Given the description of an element on the screen output the (x, y) to click on. 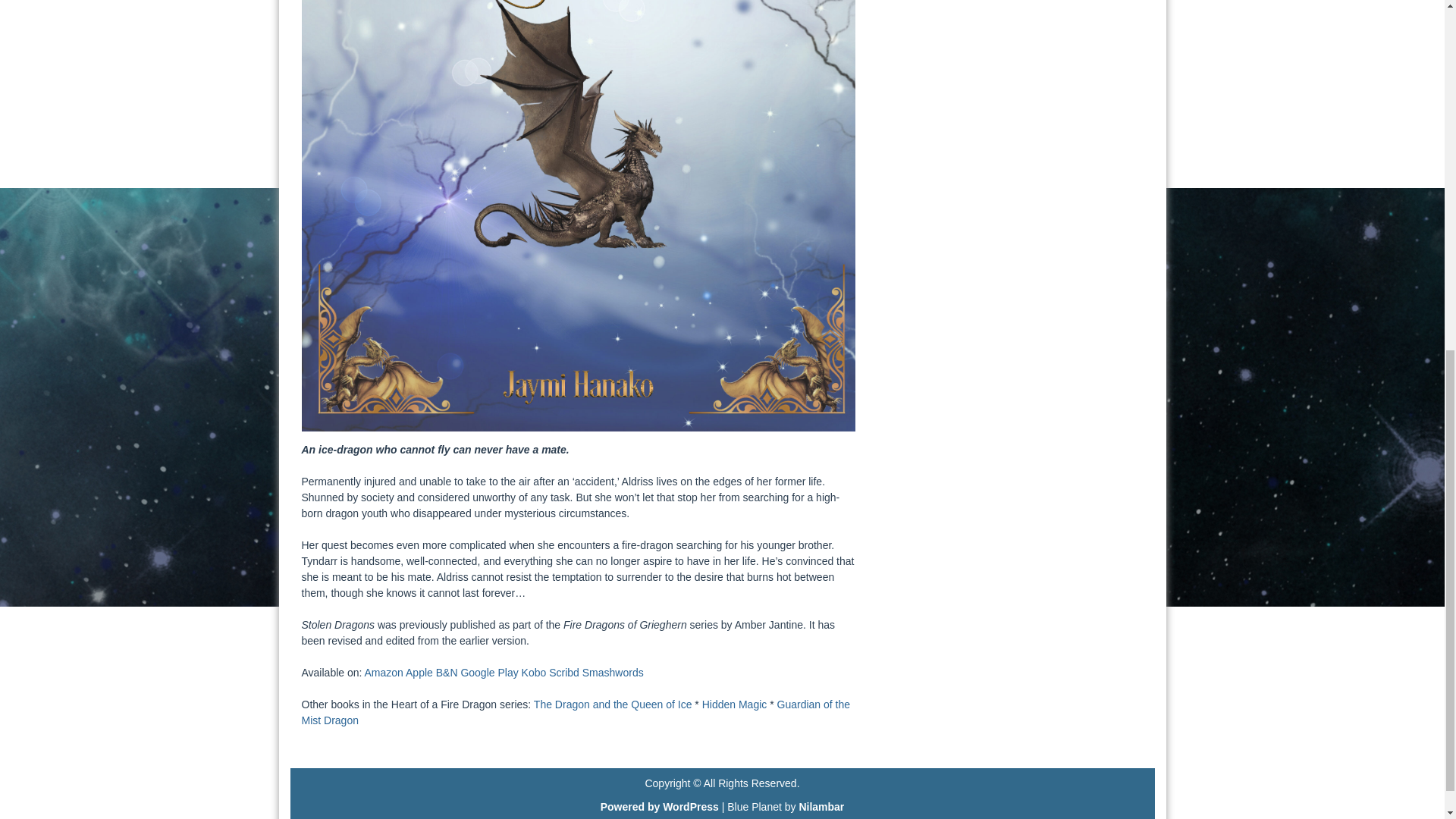
Google Play (489, 672)
Apple (419, 672)
Smashwords (612, 672)
Powered by WordPress (659, 806)
Nilambar (820, 806)
Kobo (534, 672)
The Dragon and the Queen of Ice (613, 704)
Scribd (563, 672)
Guardian of the Mist Dragon (575, 712)
Amazon (384, 672)
Hidden Magic (734, 704)
